Given the description of an element on the screen output the (x, y) to click on. 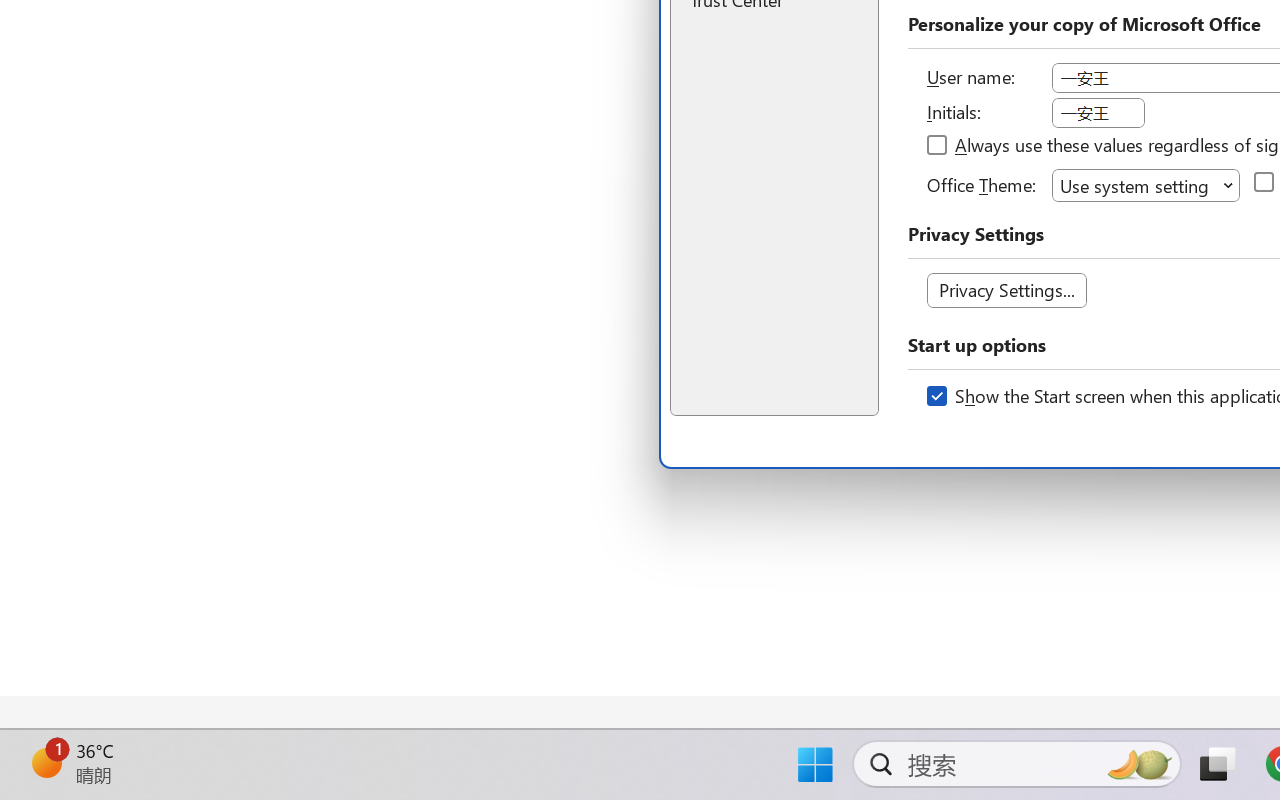
Initials (1098, 113)
Privacy Settings... (1006, 290)
Office Theme (1146, 184)
